Given the description of an element on the screen output the (x, y) to click on. 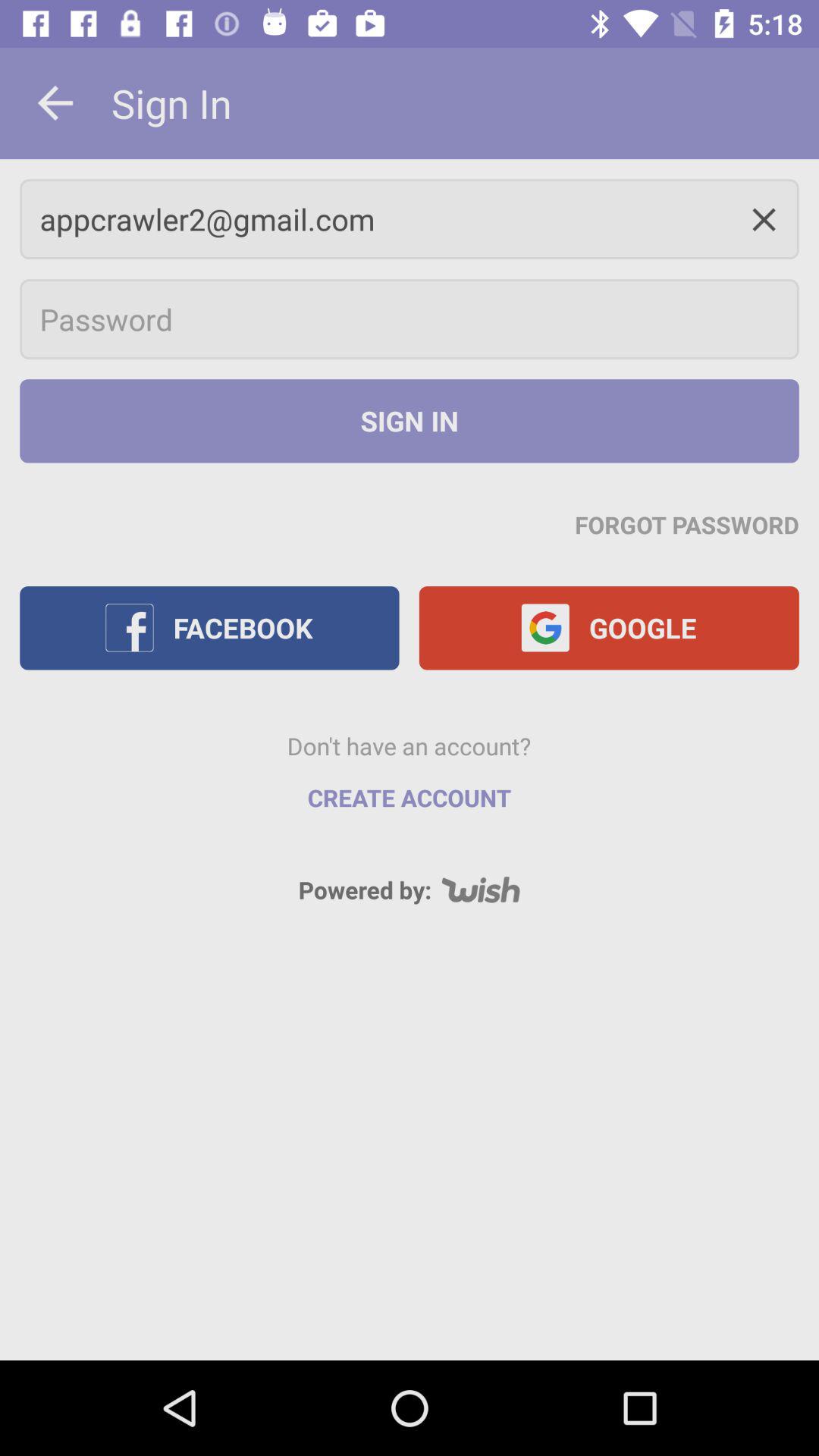
turn off the icon above the appcrawler2@gmail.com icon (55, 103)
